Given the description of an element on the screen output the (x, y) to click on. 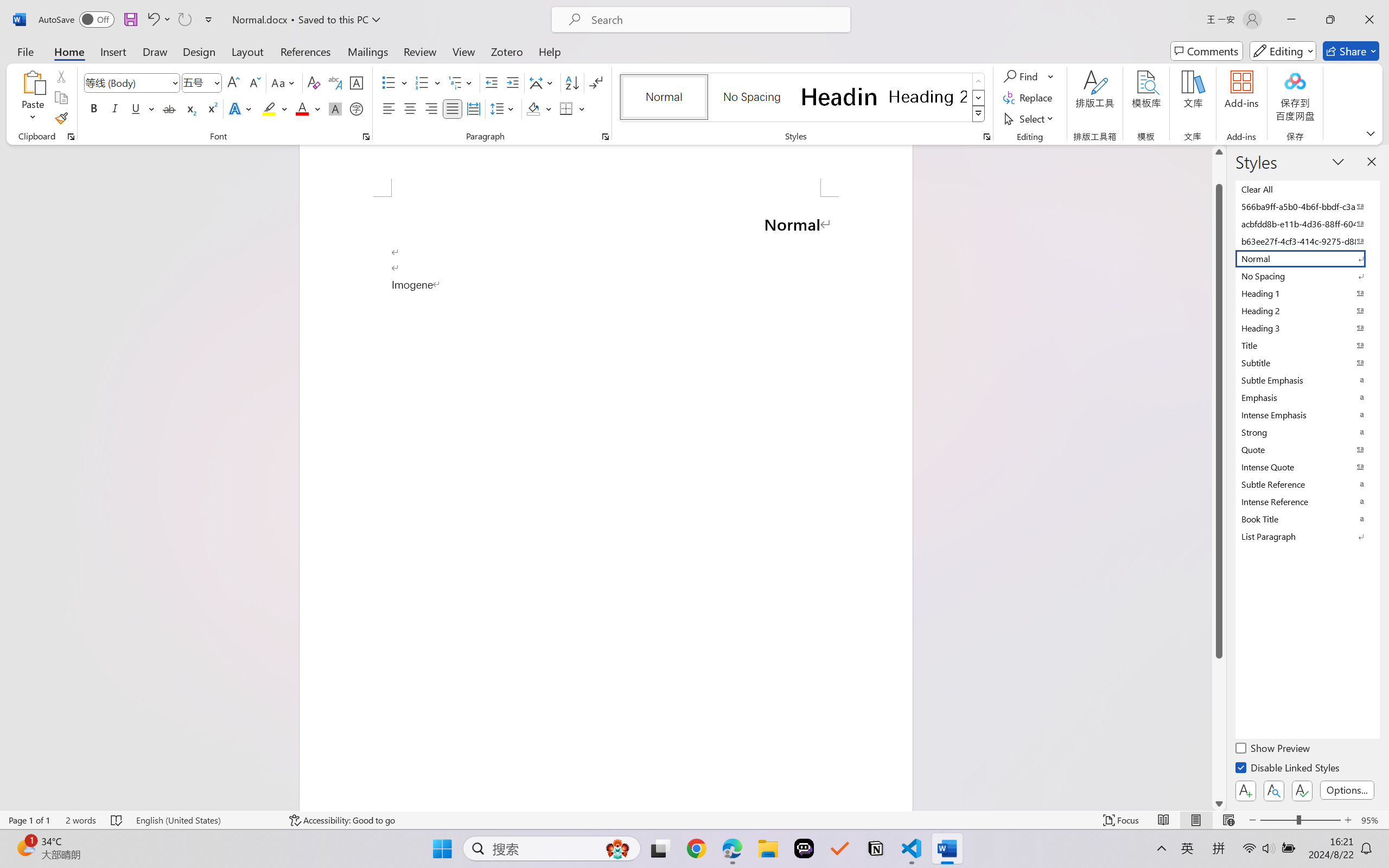
Sort... (571, 82)
Character Border (356, 82)
Replace... (1029, 97)
Undo Typing (158, 19)
Text Highlight Color (274, 108)
Cut (60, 75)
Paragraph... (605, 136)
566ba9ff-a5b0-4b6f-bbdf-c3ab41993fc2 (1306, 206)
